Given the description of an element on the screen output the (x, y) to click on. 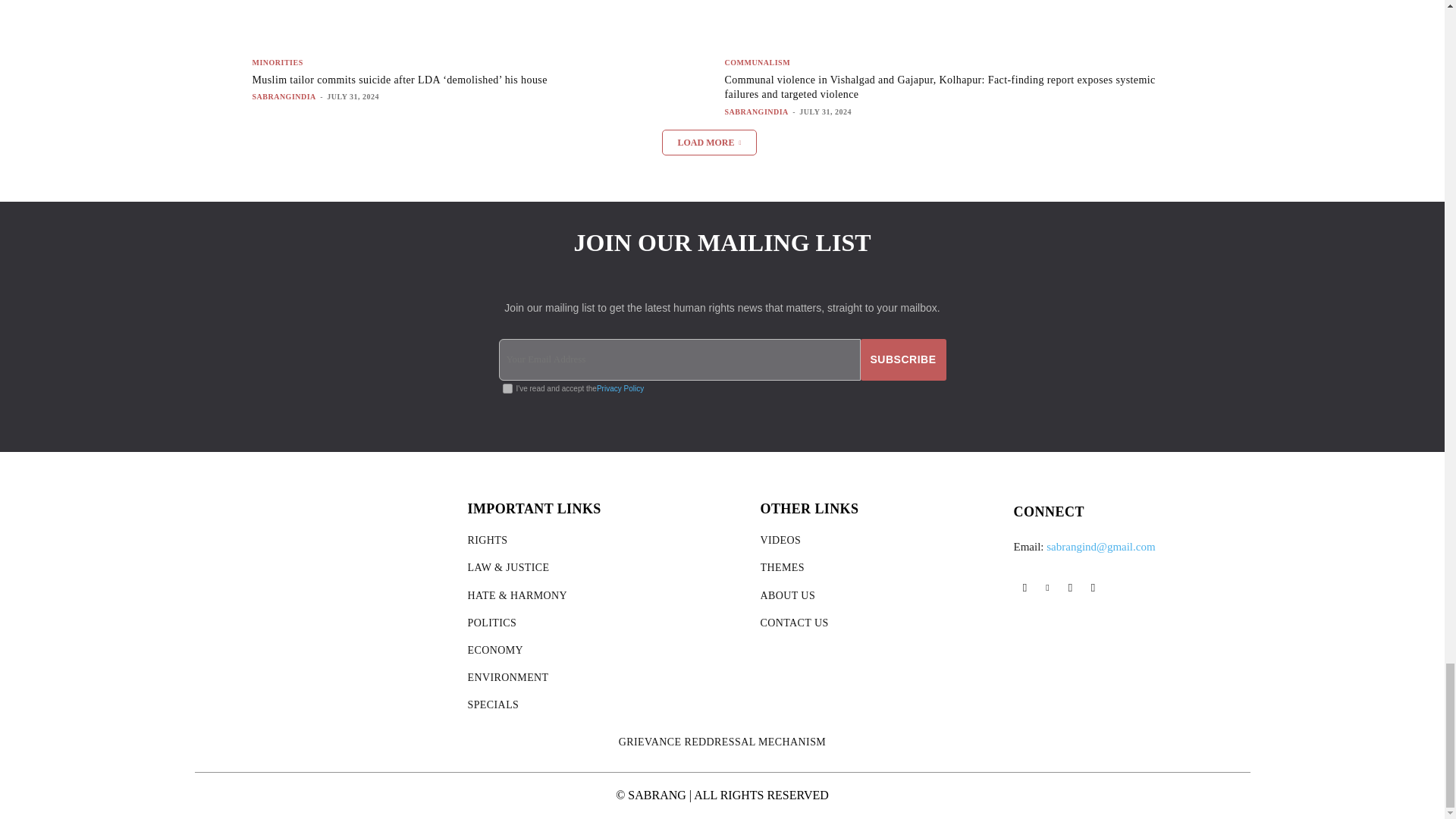
Subscribe (903, 359)
on (507, 388)
